Given the description of an element on the screen output the (x, y) to click on. 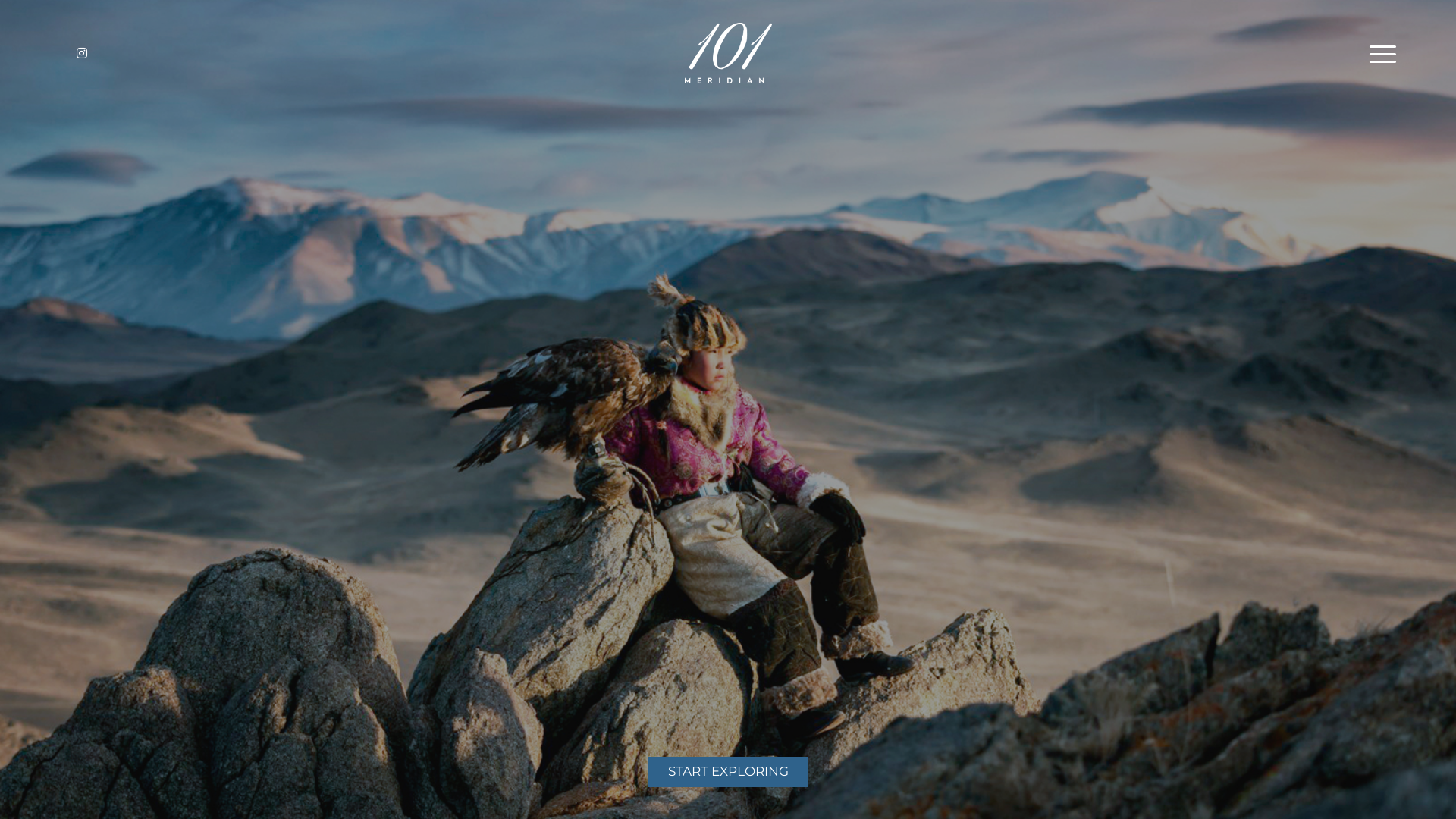
101 Meridian Element type: text (727, 66)
START EXPLORING Element type: text (727, 771)
